Given the description of an element on the screen output the (x, y) to click on. 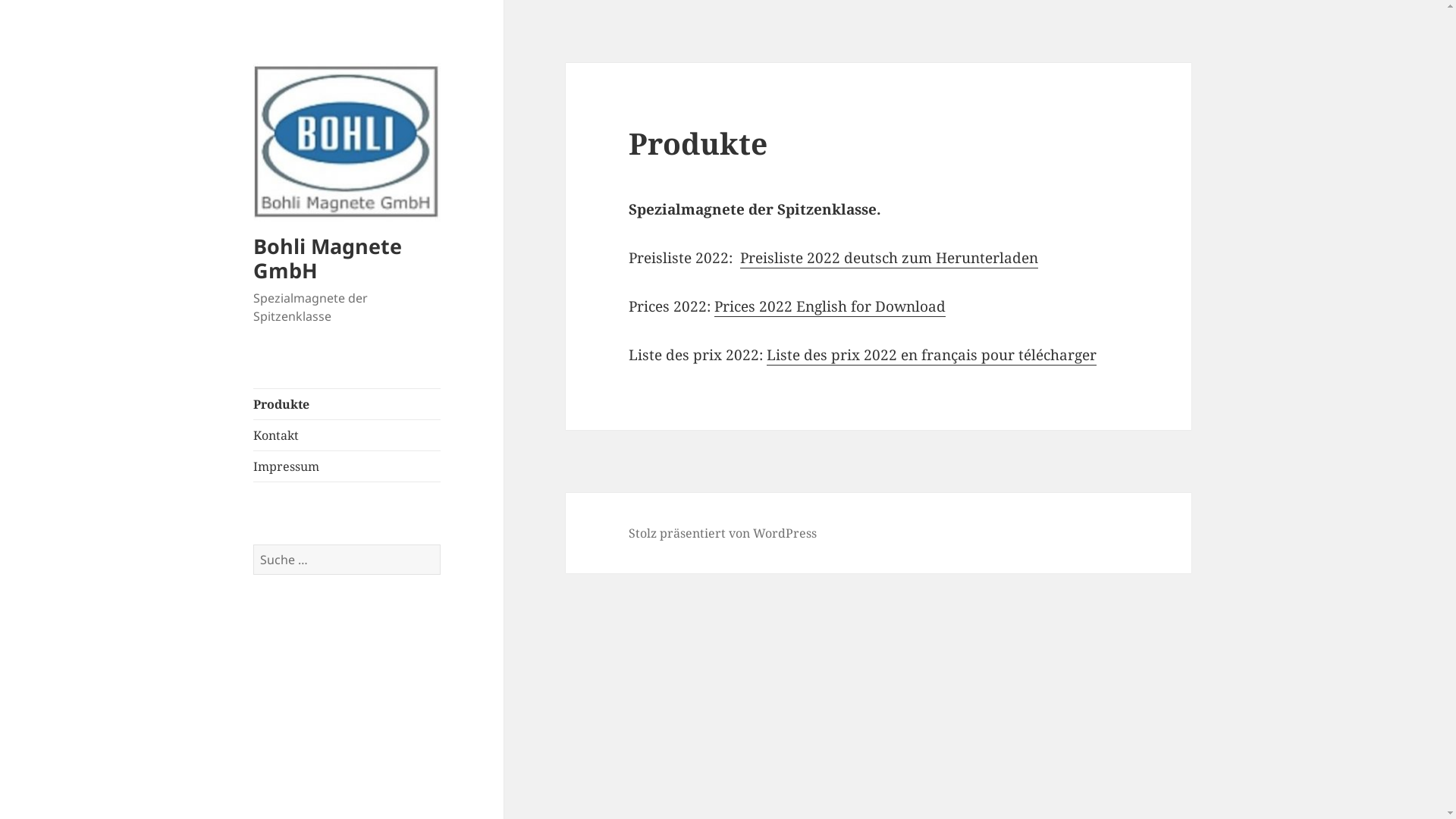
Suche Element type: text (439, 543)
Preisliste 2022 deutsch zum Herunterladen Element type: text (889, 257)
Produkte Element type: text (347, 404)
Impressum Element type: text (347, 466)
Prices 2022 English for Download Element type: text (829, 306)
Bohli Magnete GmbH Element type: text (327, 258)
Kontakt Element type: text (347, 435)
